Given the description of an element on the screen output the (x, y) to click on. 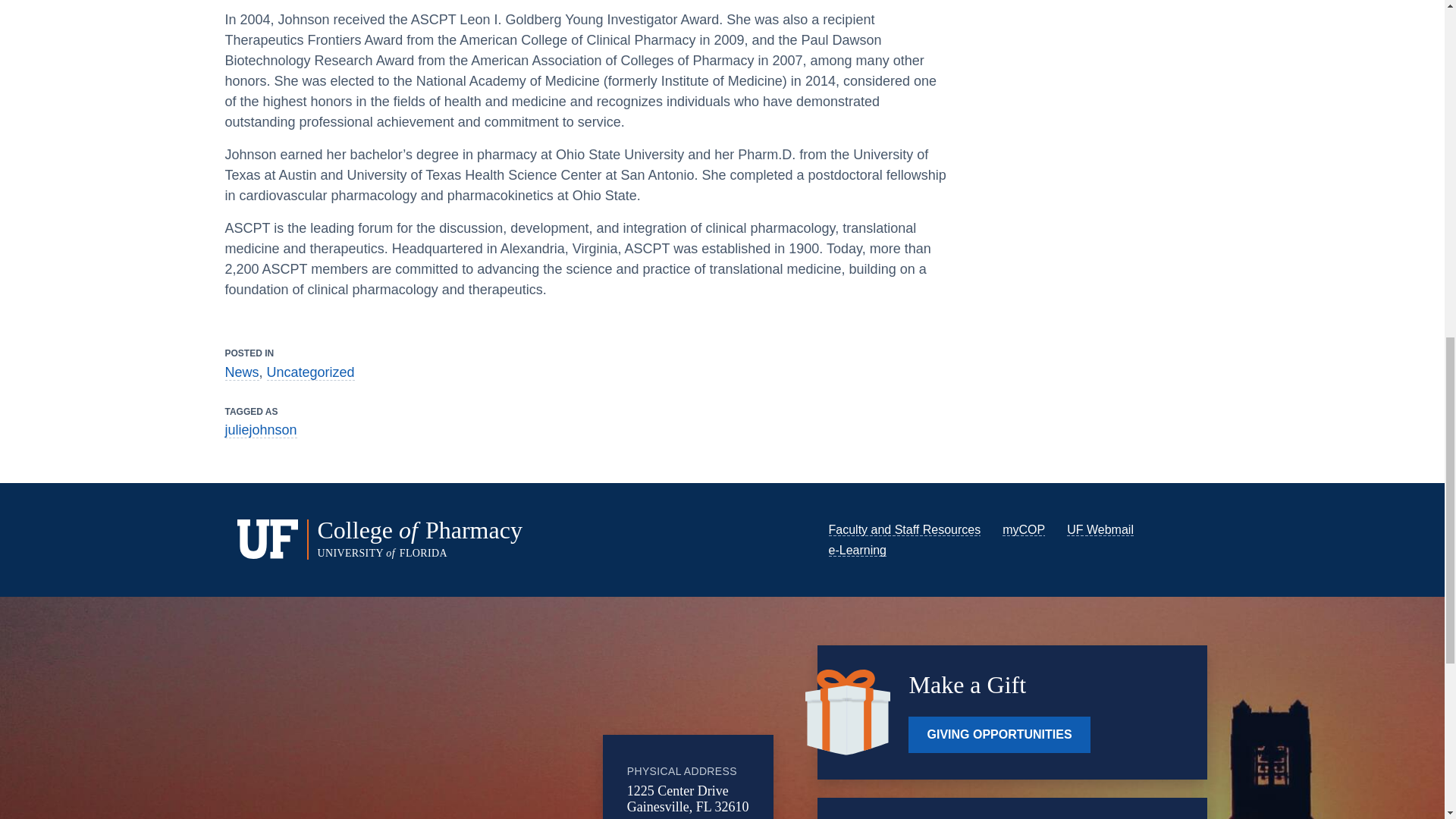
Faculty and Staff Resources (903, 529)
myCOP (1024, 529)
UF Webmail (1100, 529)
e-Learning (857, 549)
Google Maps Embed (478, 734)
